Given the description of an element on the screen output the (x, y) to click on. 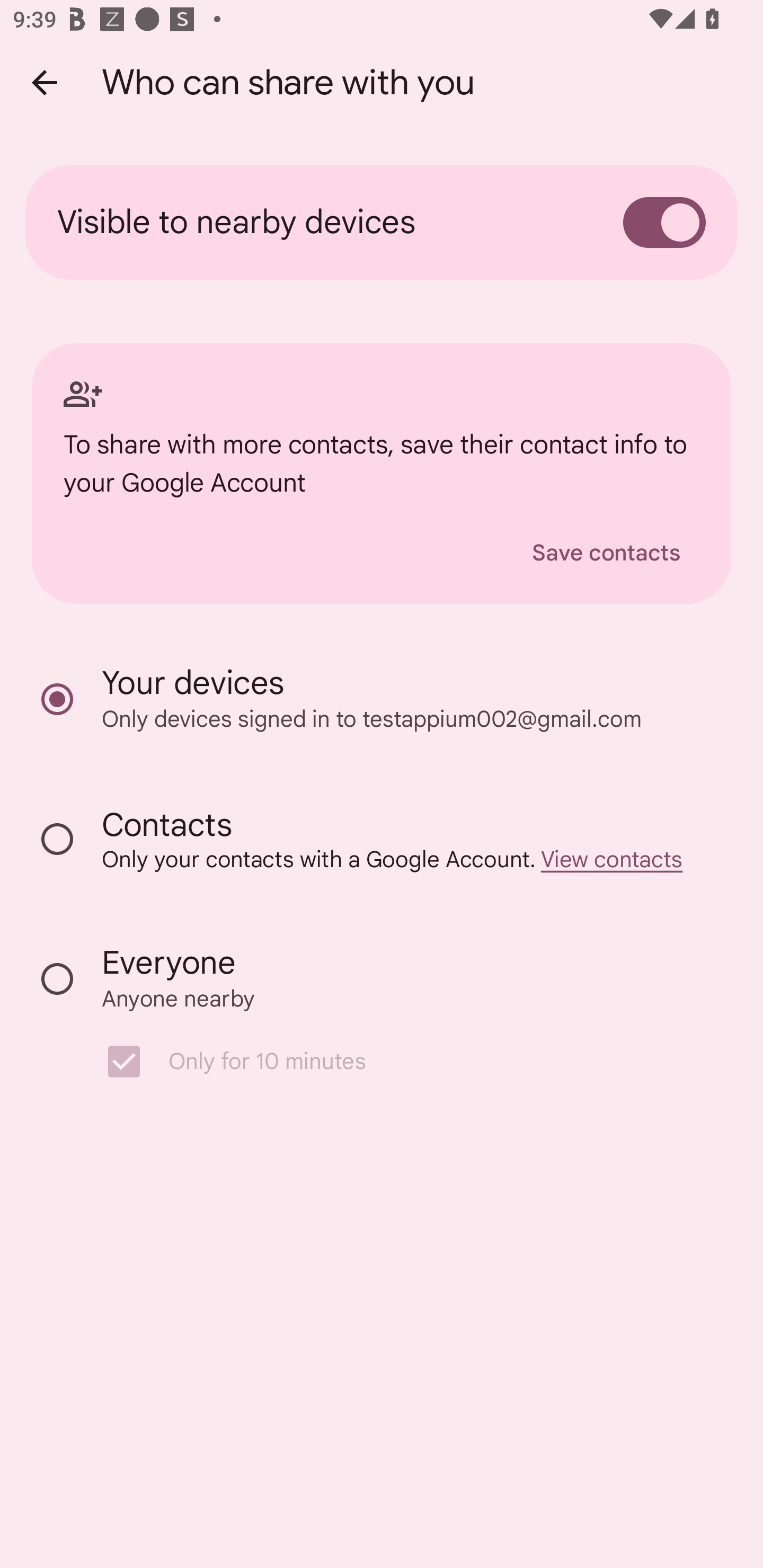
Back (44, 81)
Visible to nearby devices (381, 221)
Save contacts (605, 552)
Everyone Anyone nearby Only for 10 minutes (381, 1020)
Only for 10 minutes (390, 1061)
